Given the description of an element on the screen output the (x, y) to click on. 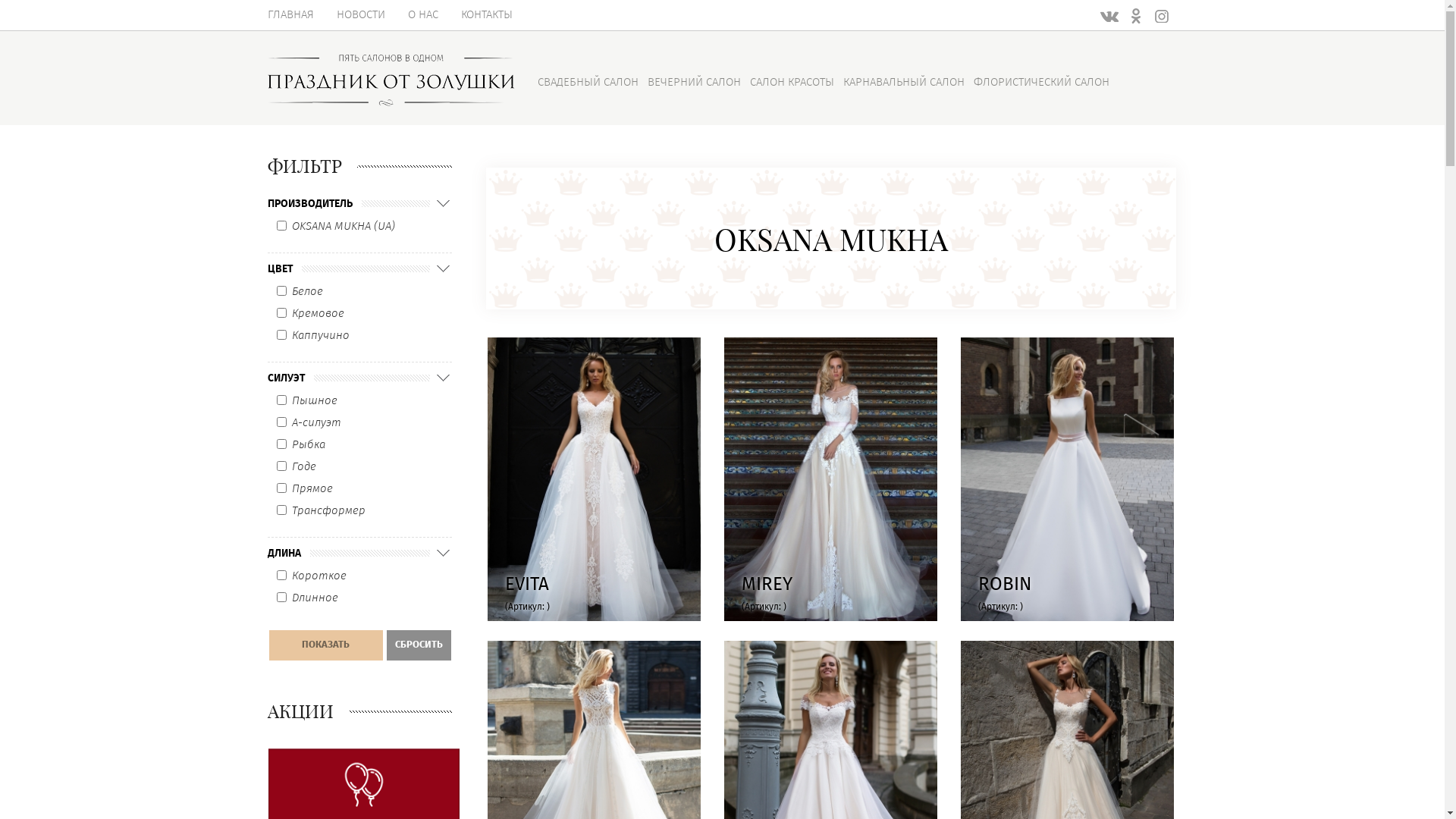
MIREY Element type: text (763, 585)
EVITA Element type: hover (592, 479)
ROBIN Element type: hover (1066, 479)
MIREY Element type: hover (829, 479)
EVITA Element type: text (523, 585)
ROBIN Element type: text (1000, 585)
